Given the description of an element on the screen output the (x, y) to click on. 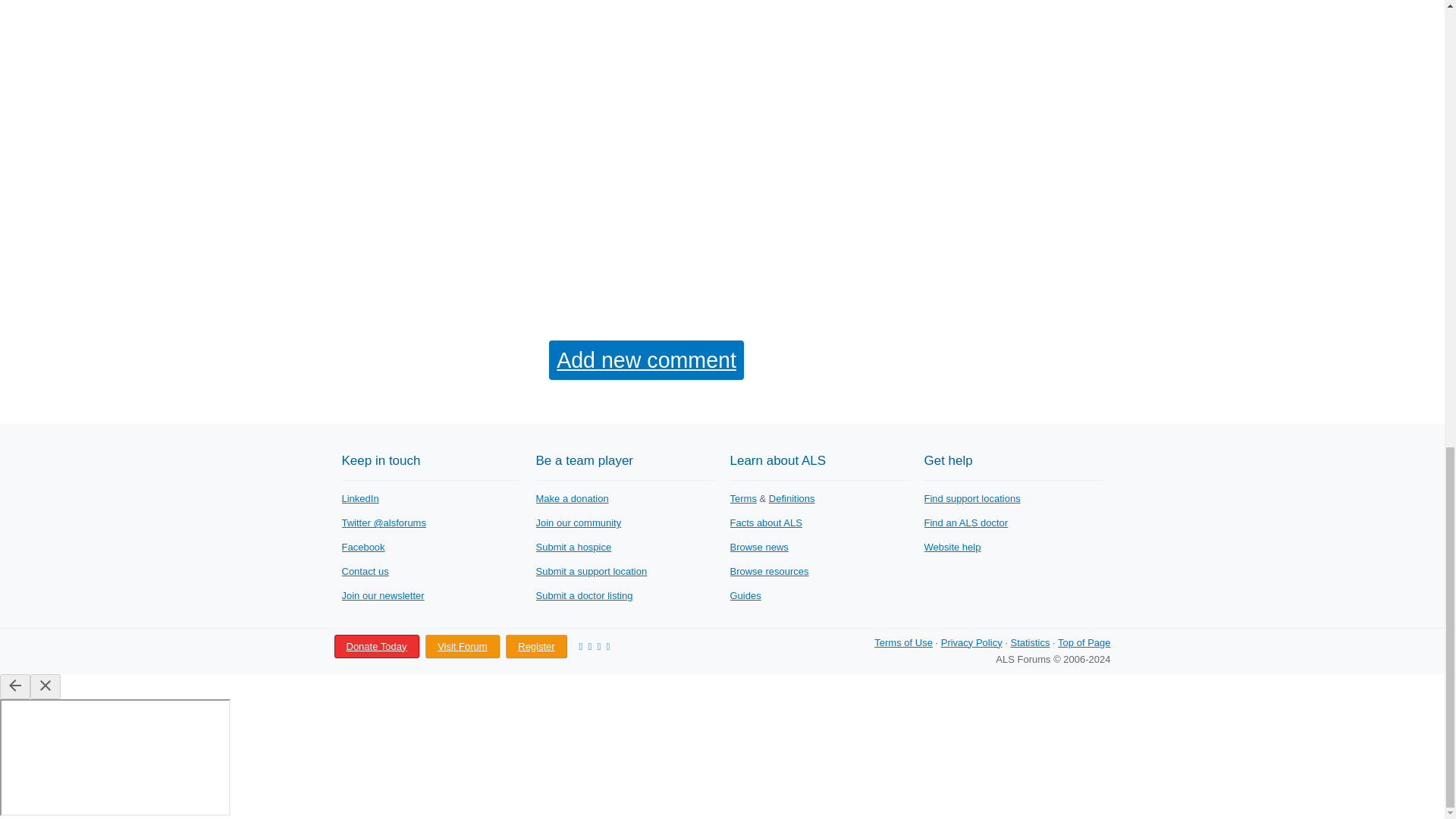
Facebook (362, 546)
Join our newsletter (381, 595)
Our Twitter (382, 522)
LinkedIn (359, 498)
Share your thoughts and opinions related to this posting. (646, 360)
Add hospice (573, 546)
Add new comment (646, 360)
Our Facebook (362, 546)
Contact us (364, 571)
